Given the description of an element on the screen output the (x, y) to click on. 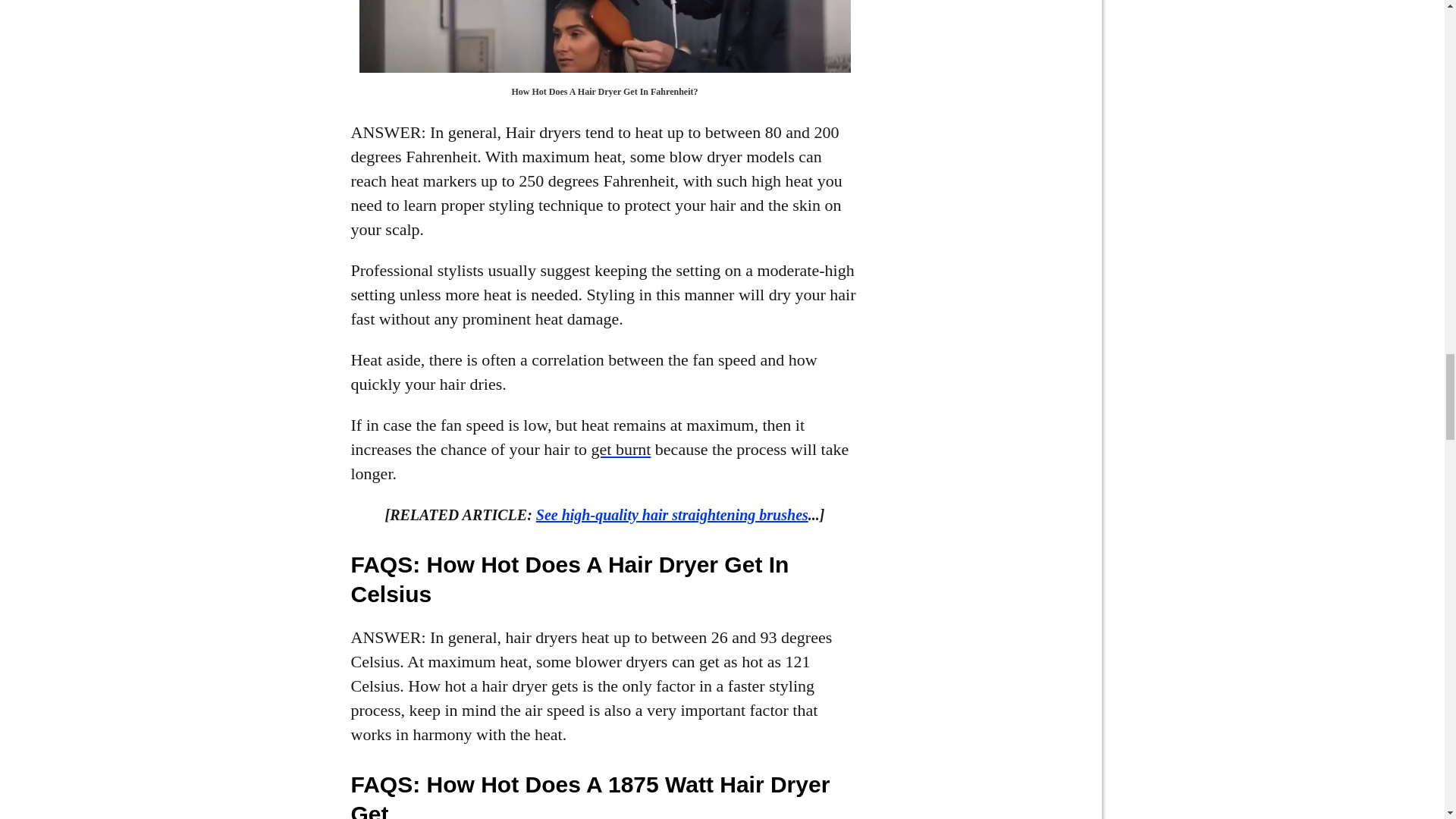
get burnt (620, 448)
See high-quality hair straightening brushes (671, 514)
How Hot Does A Hair Dryer Get In Fahrenheit? (604, 36)
